Given the description of an element on the screen output the (x, y) to click on. 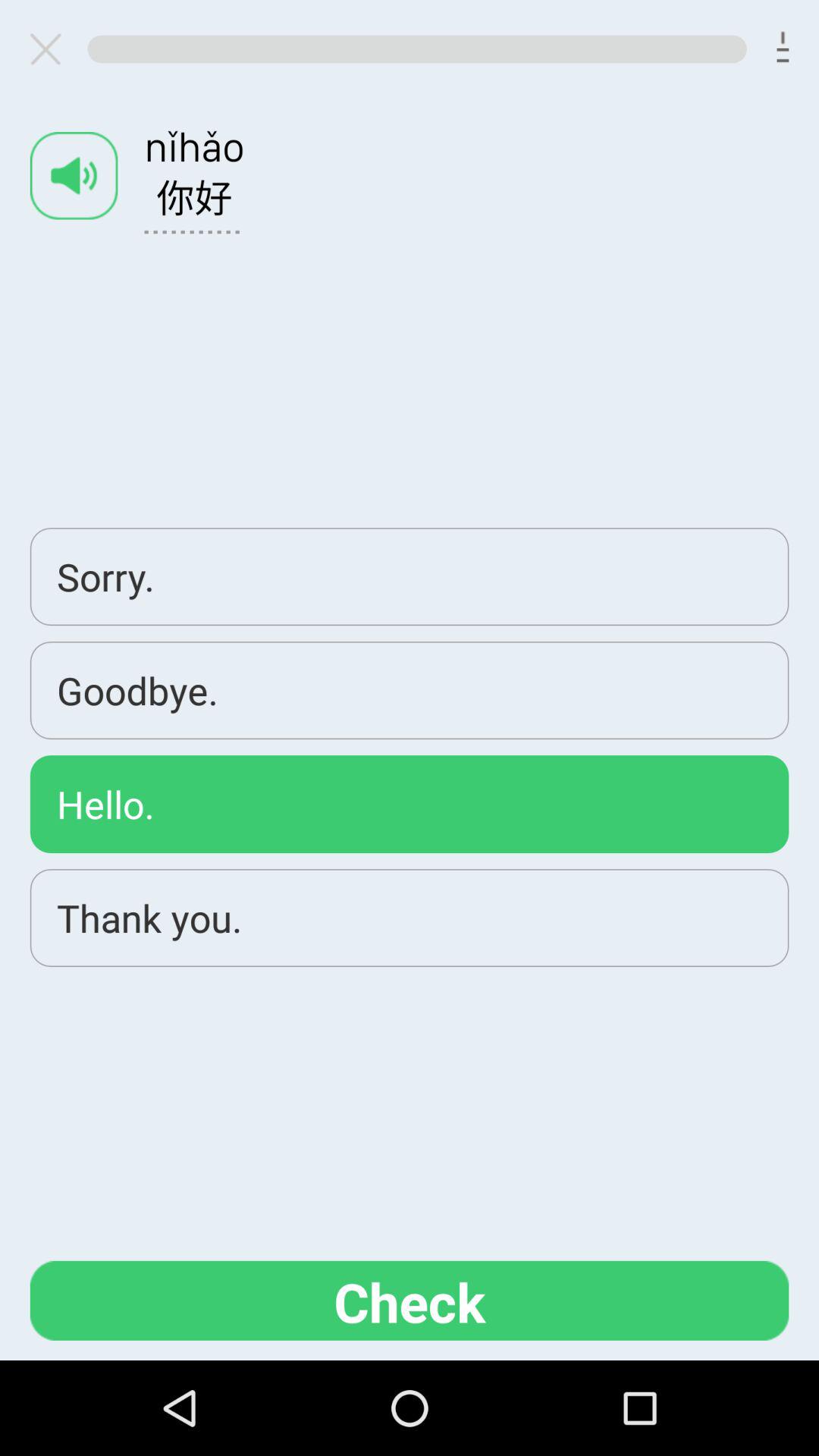
close windows (51, 49)
